Given the description of an element on the screen output the (x, y) to click on. 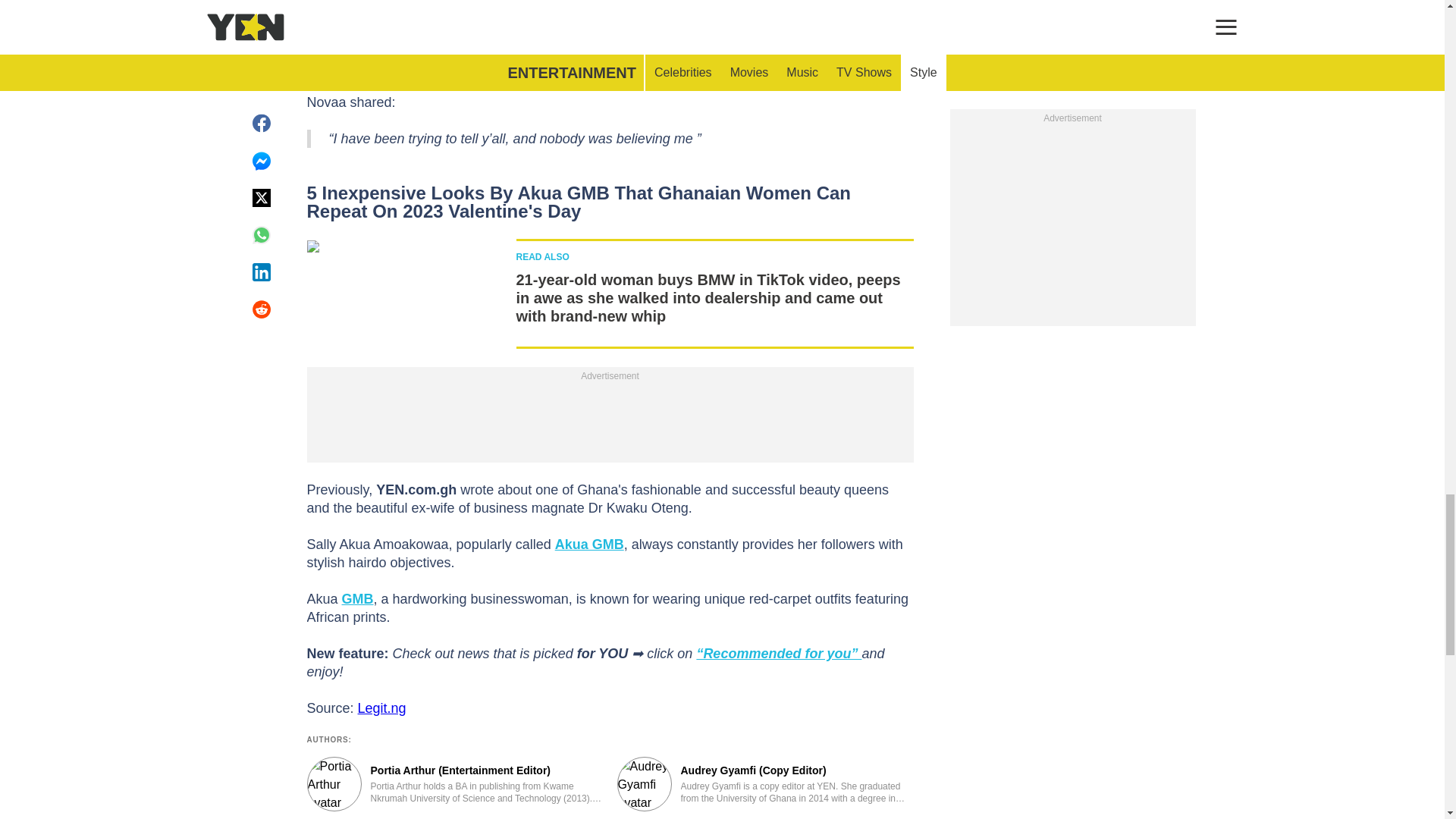
Author page (453, 783)
Author page (765, 783)
